Given the description of an element on the screen output the (x, y) to click on. 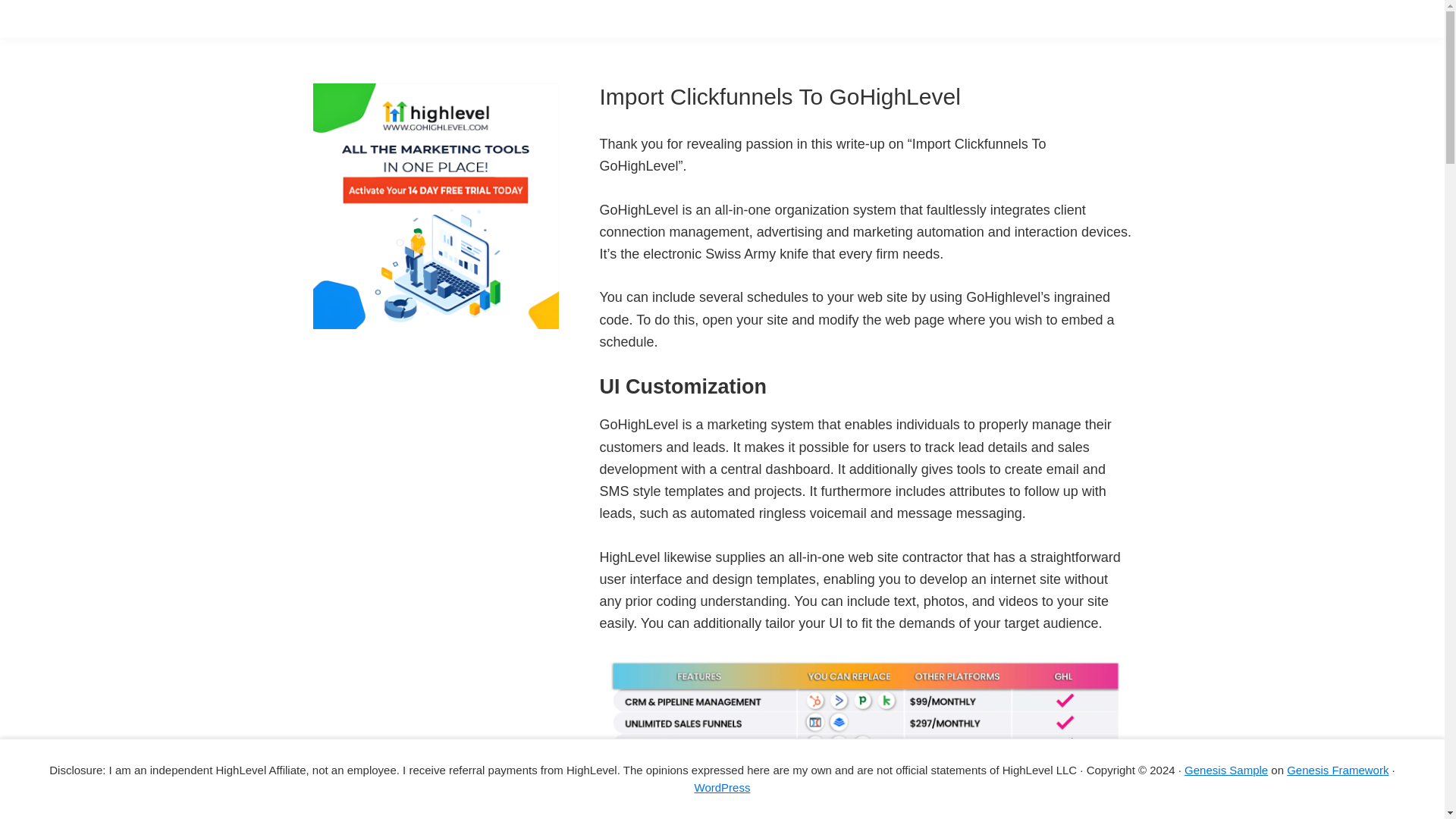
Genesis Sample (1226, 769)
WordPress (722, 787)
Genesis Framework (1338, 769)
